Given the description of an element on the screen output the (x, y) to click on. 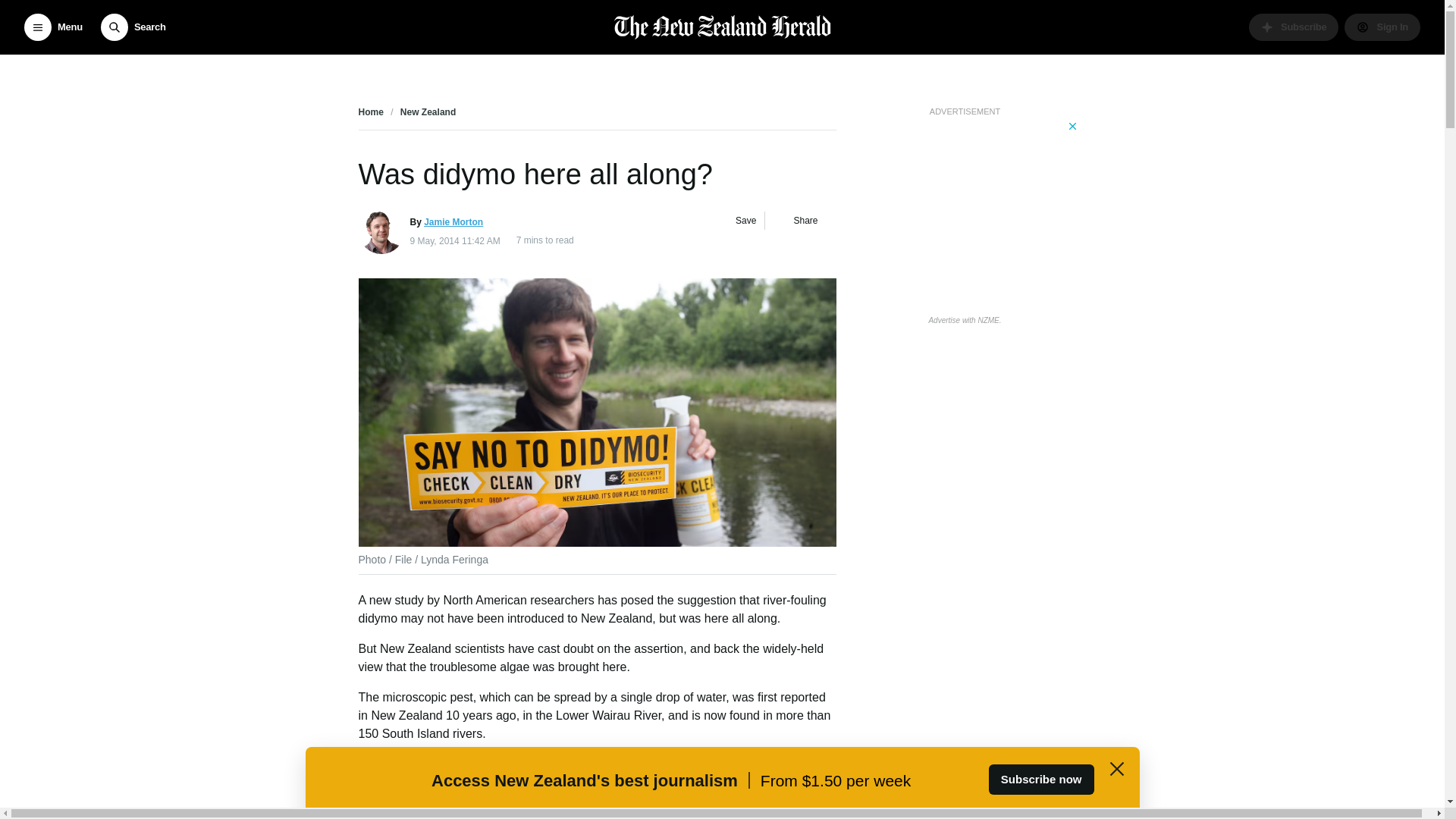
Subscribe (1294, 26)
Search (132, 26)
Sign In (1382, 26)
3rd party ad content (964, 214)
Manage your account (1382, 26)
Menu (53, 26)
